Given the description of an element on the screen output the (x, y) to click on. 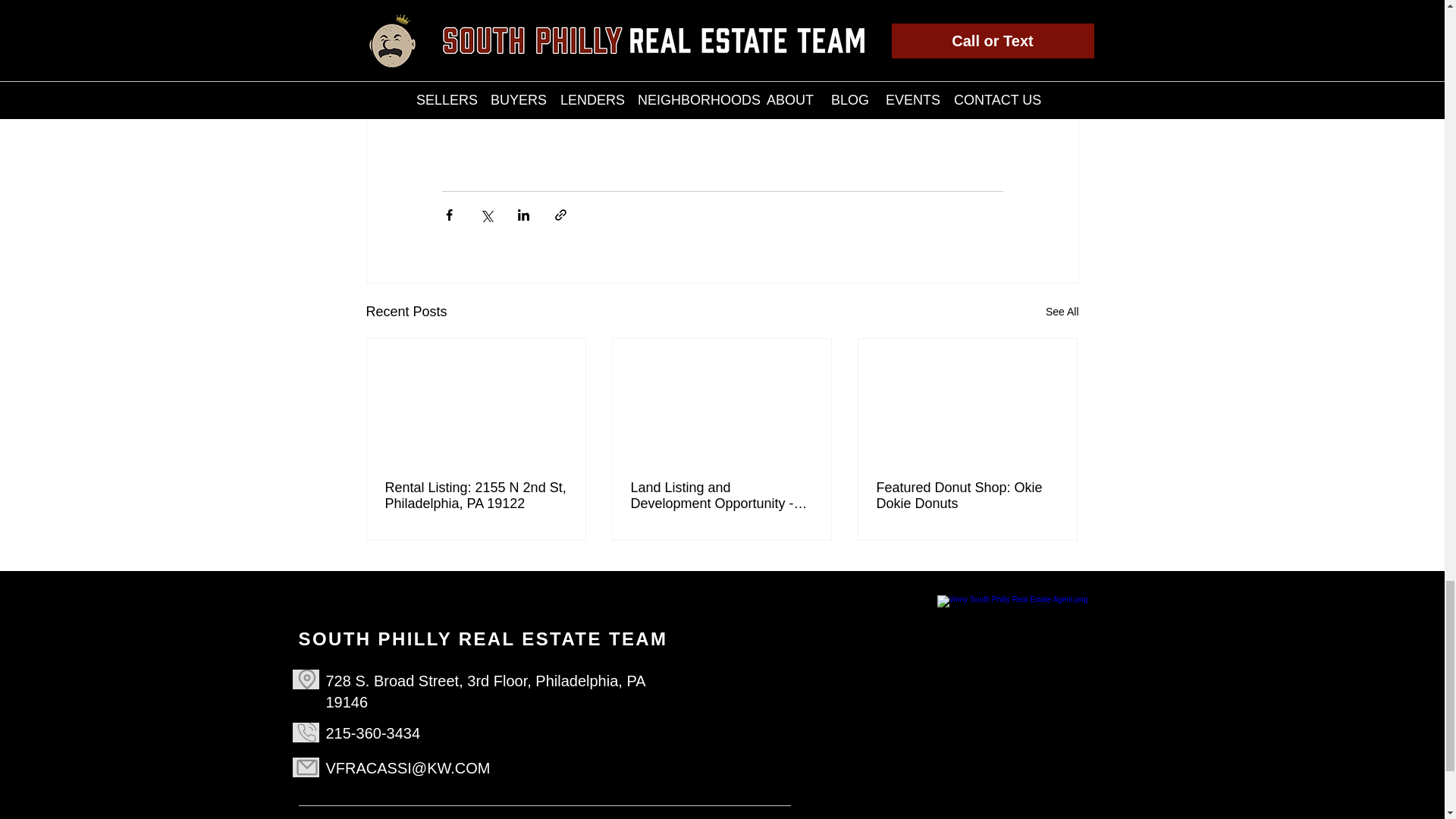
See All (1061, 311)
Featured Donut Shop: Okie Dokie Donuts (967, 495)
215-360-3434 (373, 733)
Rental Listing: 2155 N 2nd St, Philadelphia, PA 19122 (476, 495)
